Given the description of an element on the screen output the (x, y) to click on. 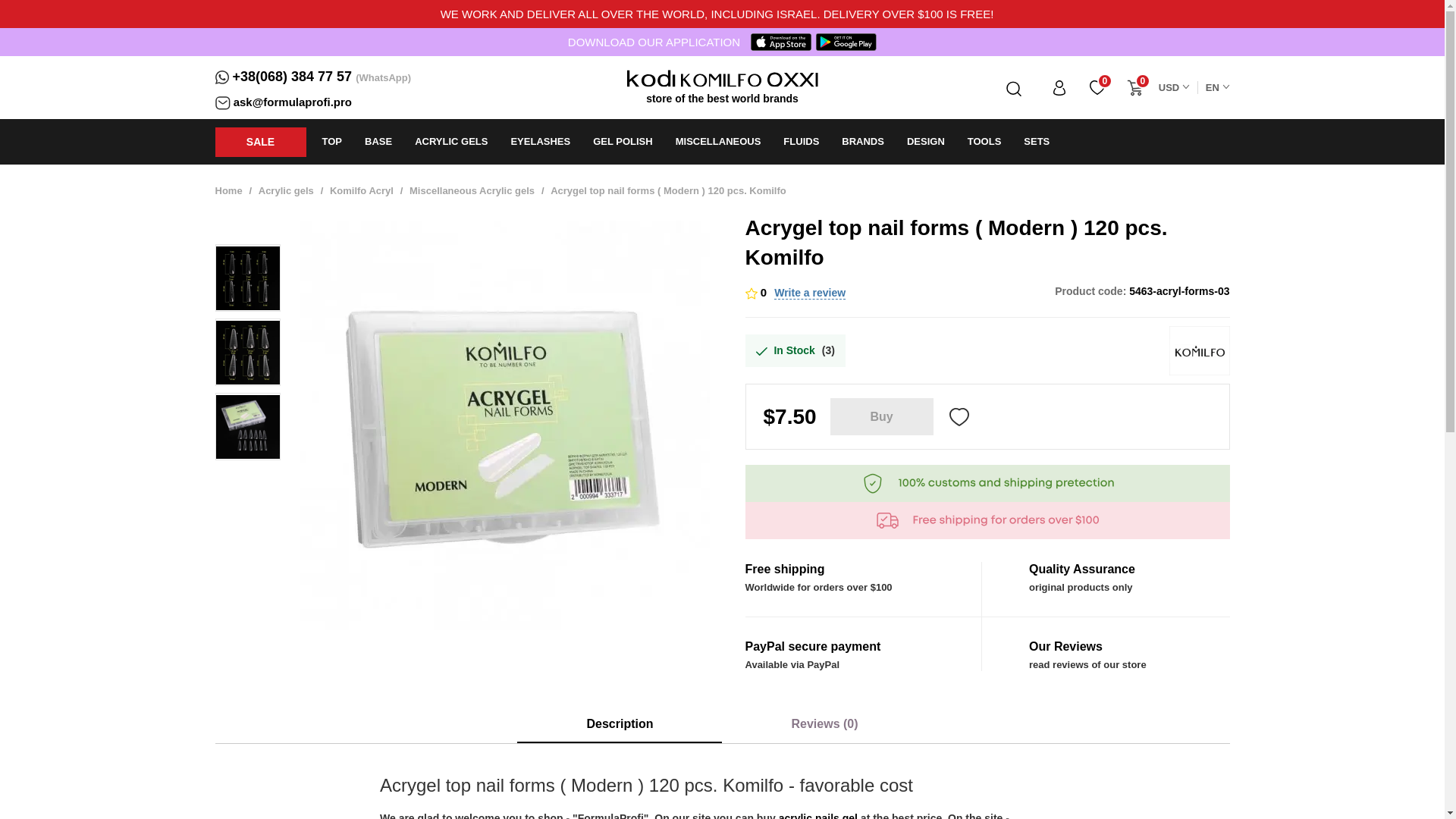
SALE (260, 142)
TOP (332, 141)
Official store Kodi, Oxxi, Staleks (791, 77)
Official store Kodi, Oxxi, Staleks (721, 77)
Official store Kodi, Oxxi, Staleks (650, 77)
